Given the description of an element on the screen output the (x, y) to click on. 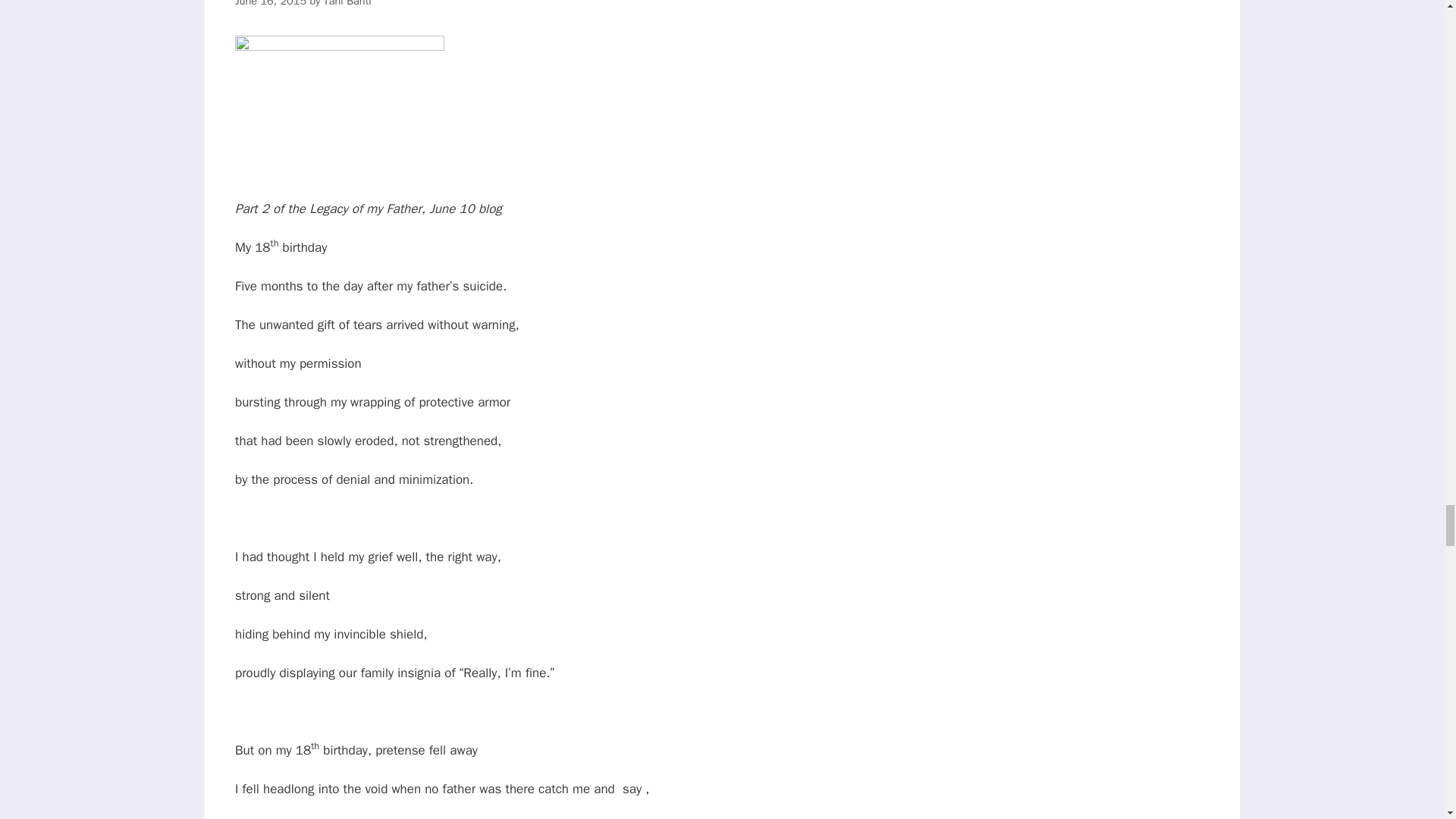
View all posts by Tani Bahti (347, 3)
